Given the description of an element on the screen output the (x, y) to click on. 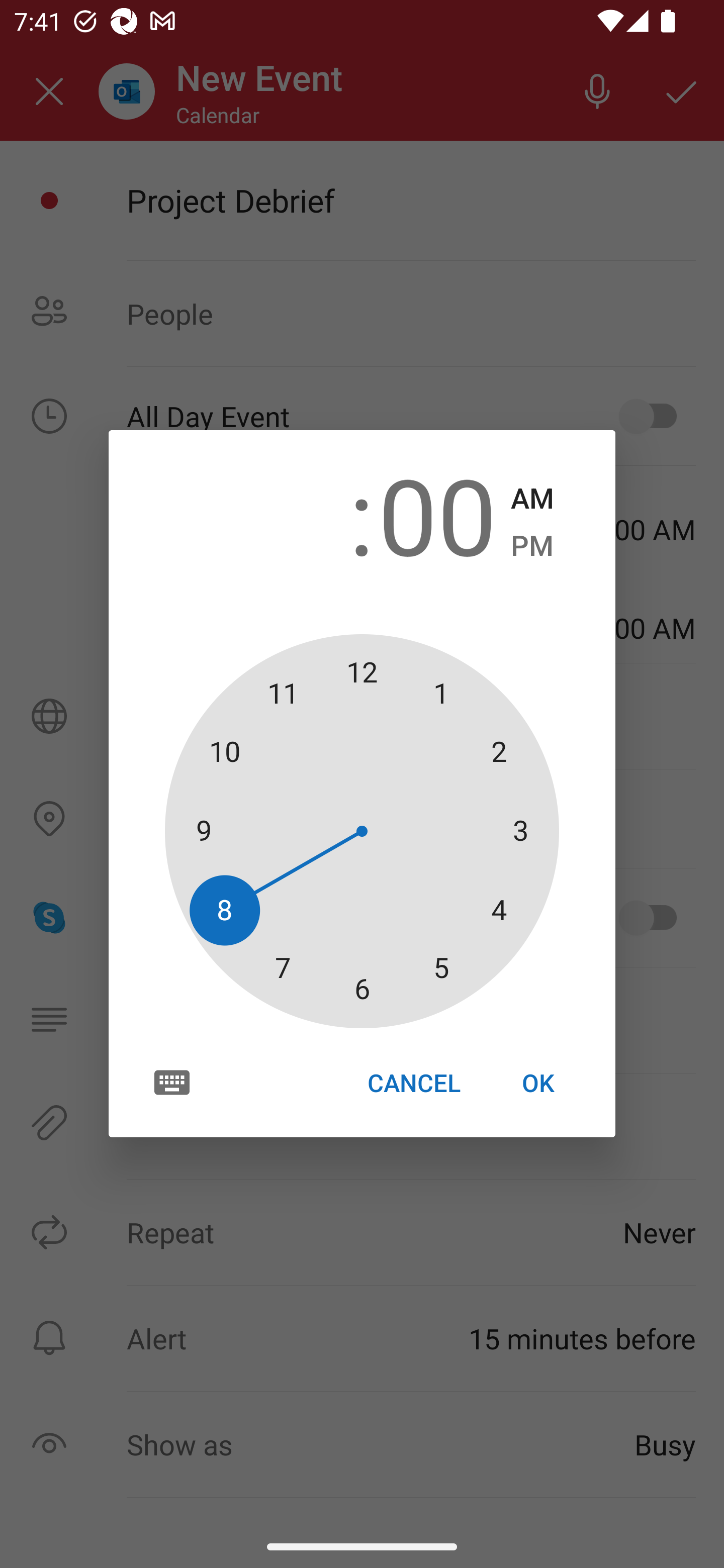
8 (285, 513)
00 (436, 513)
AM (532, 498)
PM (532, 546)
CANCEL (413, 1082)
OK (537, 1082)
Switch to text input mode for the time input. (171, 1081)
